Given the description of an element on the screen output the (x, y) to click on. 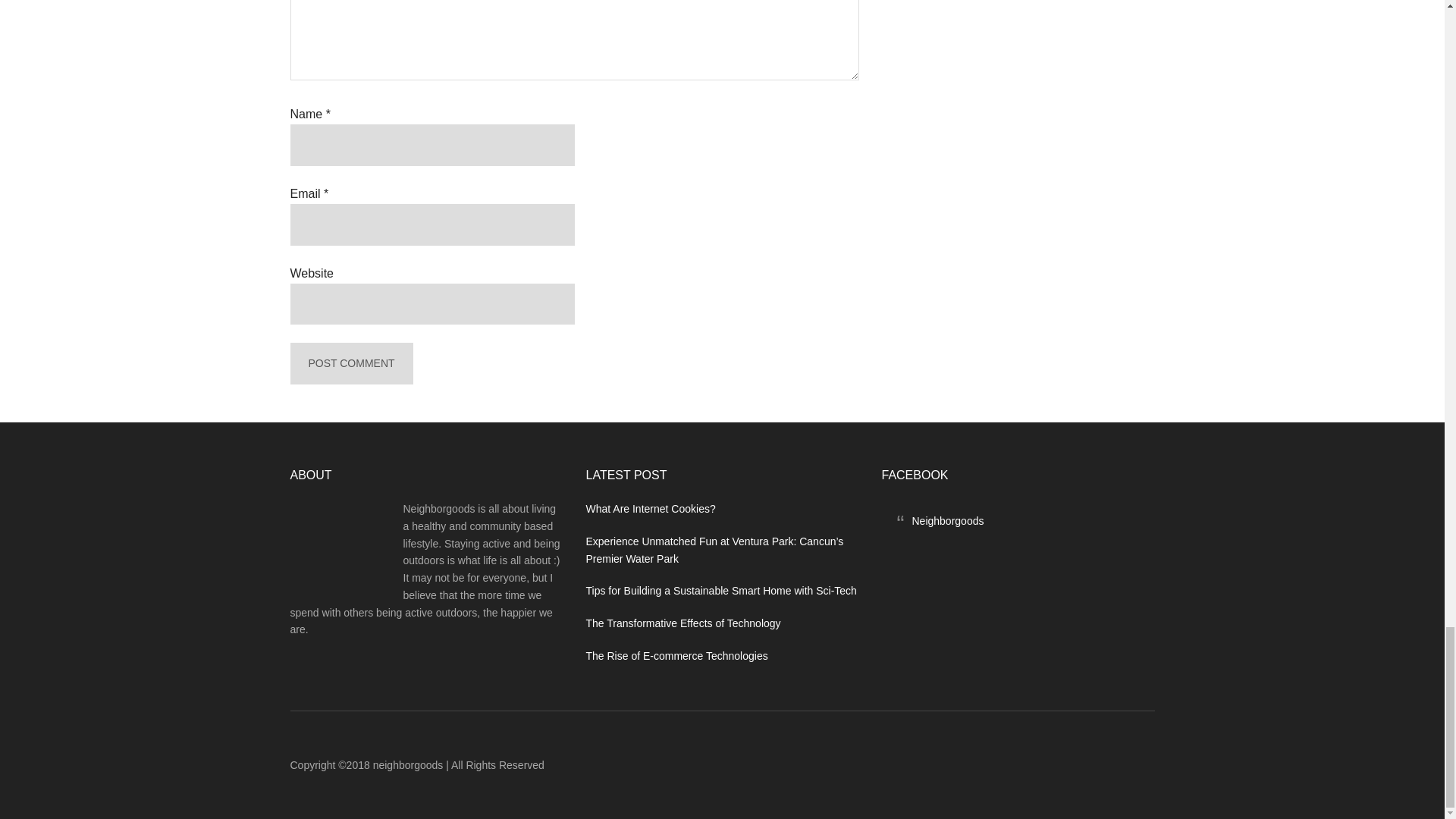
Post Comment (350, 363)
Post Comment (350, 363)
